Given the description of an element on the screen output the (x, y) to click on. 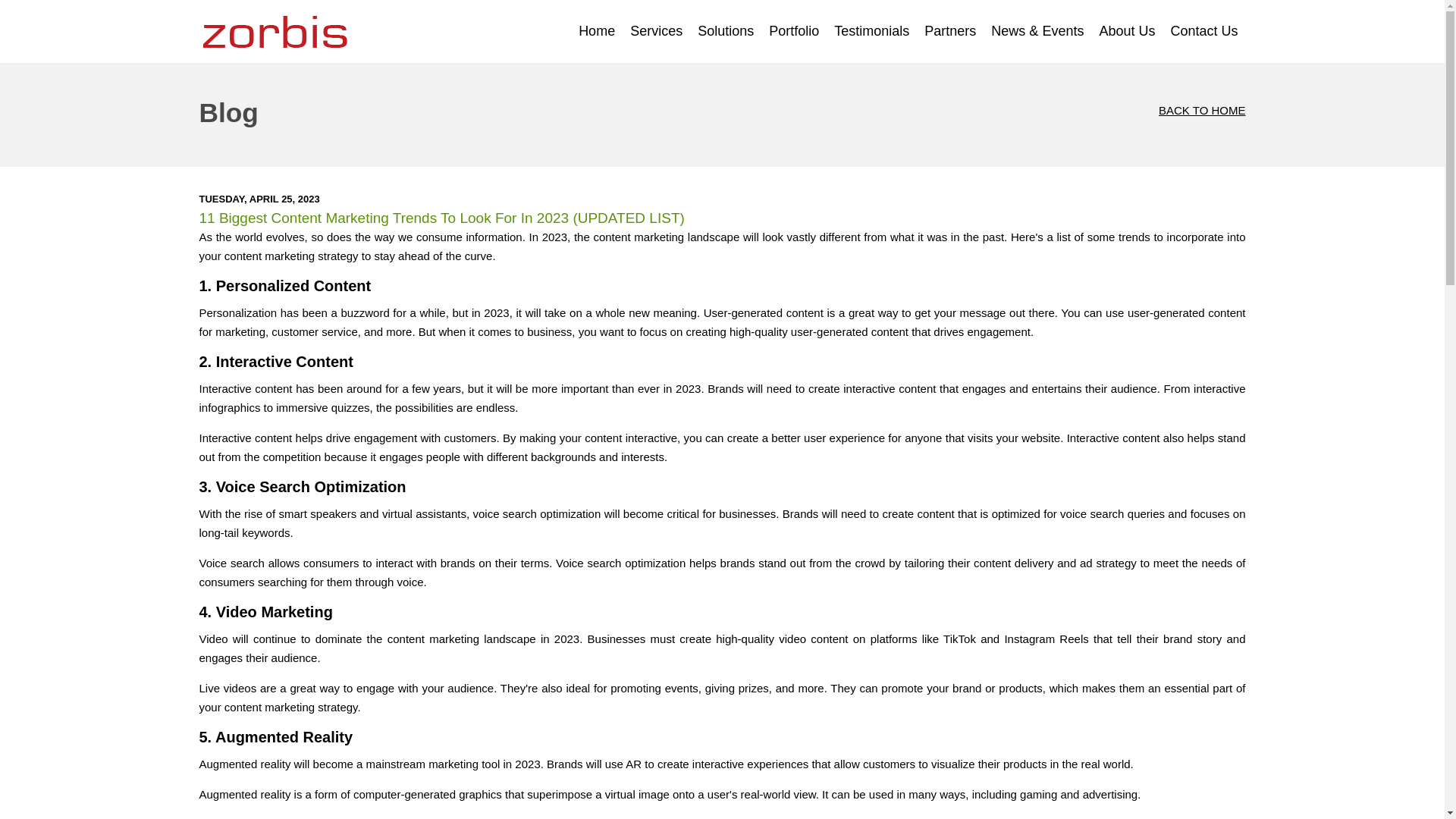
Testimonials (872, 31)
Home (596, 31)
Contact Us (1202, 31)
Portfolio (794, 31)
Partners (950, 31)
Solutions (725, 31)
About Us (1125, 31)
Services (656, 31)
BACK TO HOME (1139, 110)
